Given the description of an element on the screen output the (x, y) to click on. 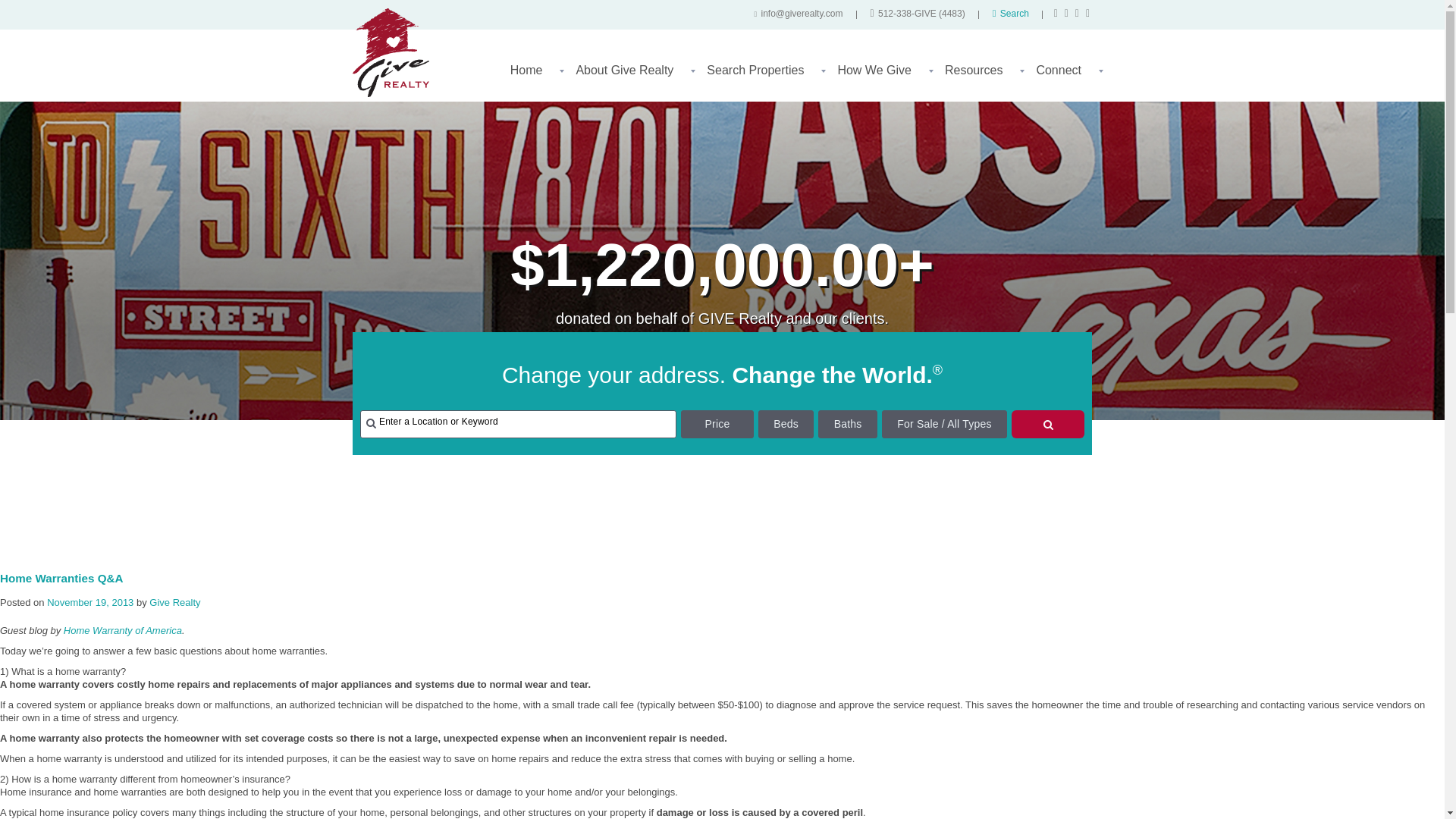
Resources (978, 76)
How We Give (879, 76)
View all posts by Give Realty (174, 602)
About Give Realty (629, 76)
November 19, 2013 (89, 602)
Home (532, 76)
Home Warranty of America (123, 630)
Search Properties (759, 76)
Give Realty (174, 602)
Connect (1063, 76)
